Given the description of an element on the screen output the (x, y) to click on. 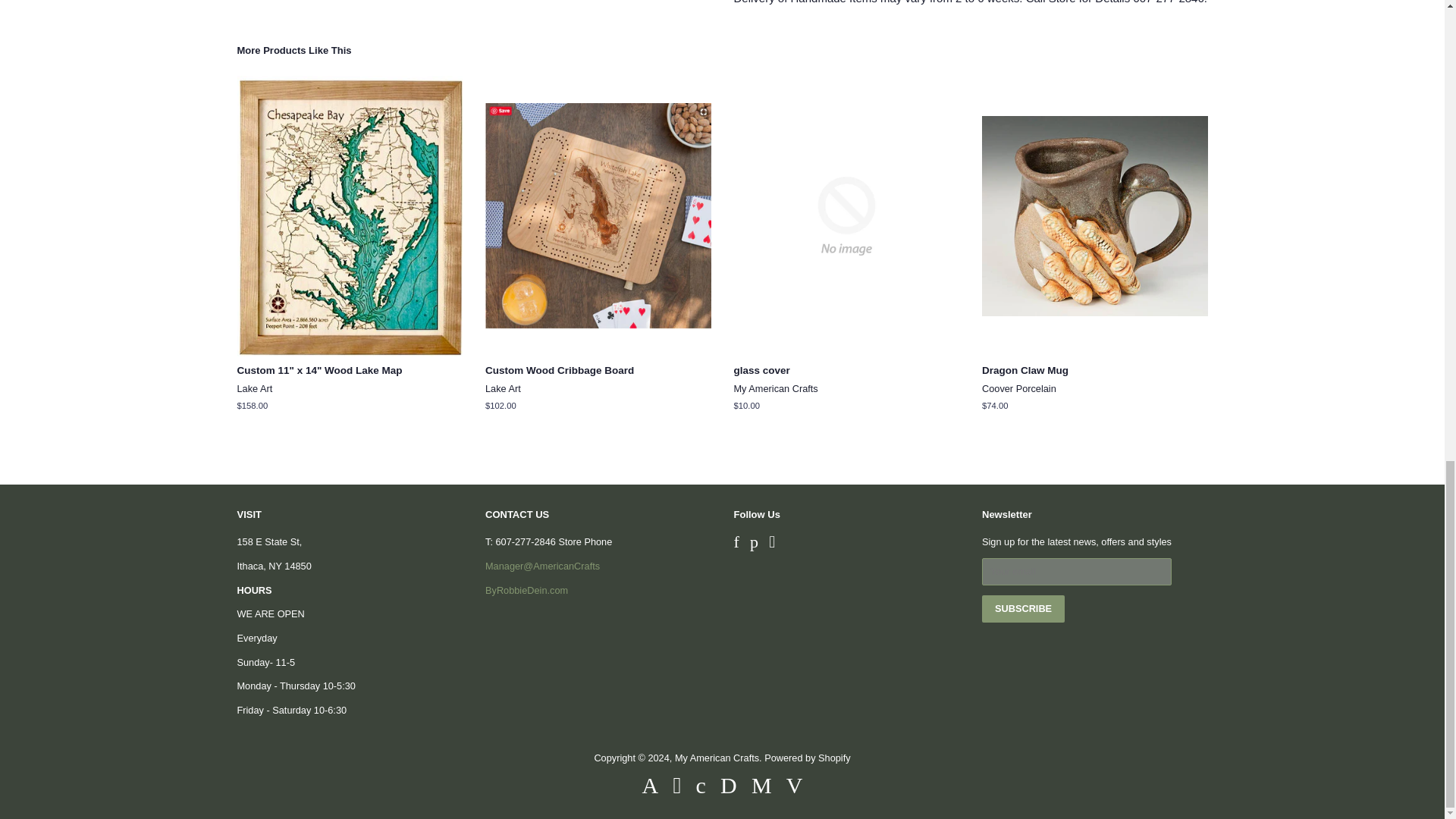
Subscribe (1022, 608)
